Given the description of an element on the screen output the (x, y) to click on. 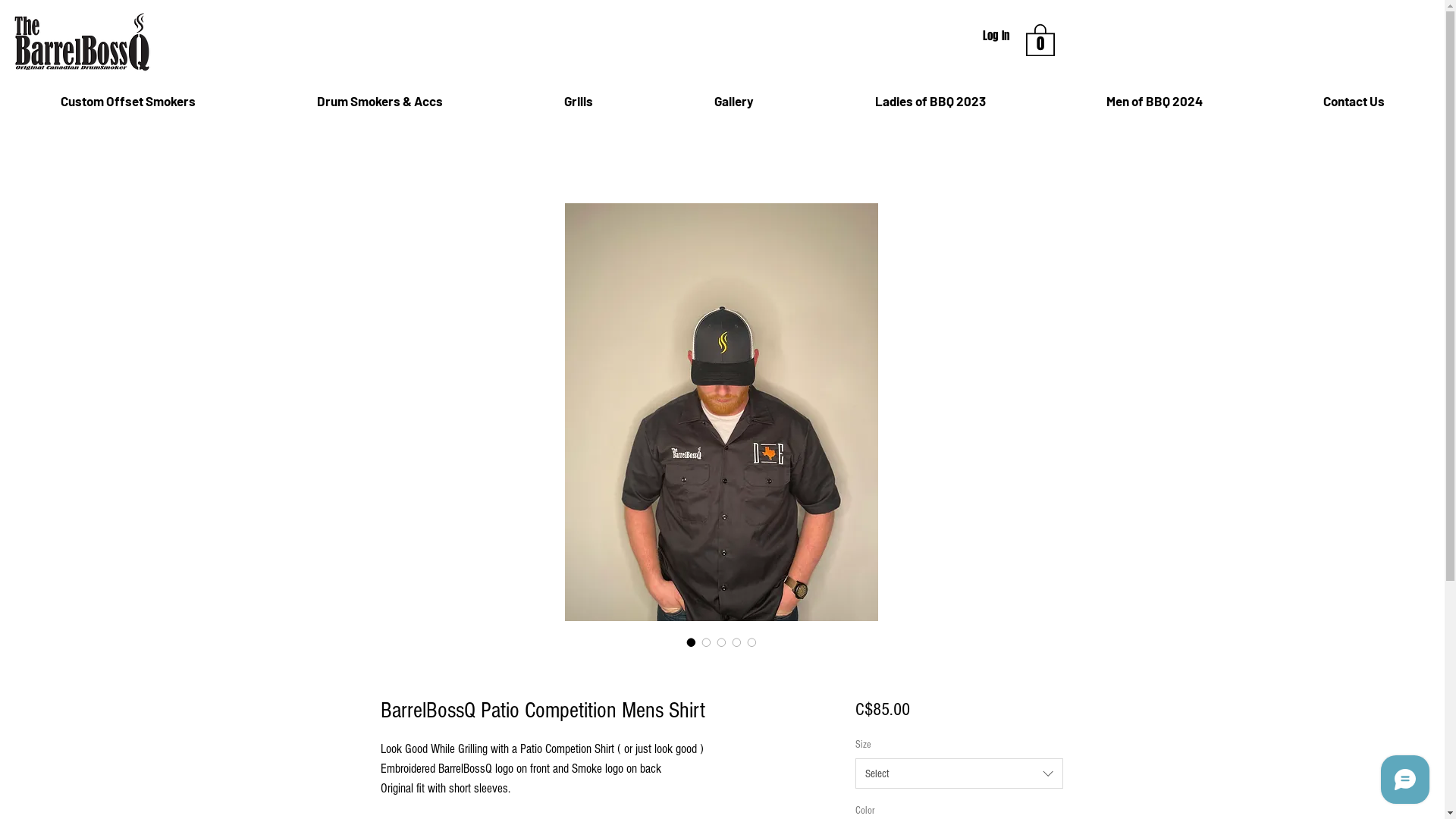
Select Element type: text (958, 773)
0 Element type: text (1039, 38)
Gallery Element type: text (732, 100)
Custom Offset Smokers Element type: text (127, 100)
Men of BBQ 2024 Element type: text (1153, 100)
Grills Element type: text (577, 100)
Log In Element type: text (995, 34)
Ladies of BBQ 2023 Element type: text (929, 100)
Drum Smokers & Accs Element type: text (378, 100)
Contact Us Element type: text (1353, 100)
